Given the description of an element on the screen output the (x, y) to click on. 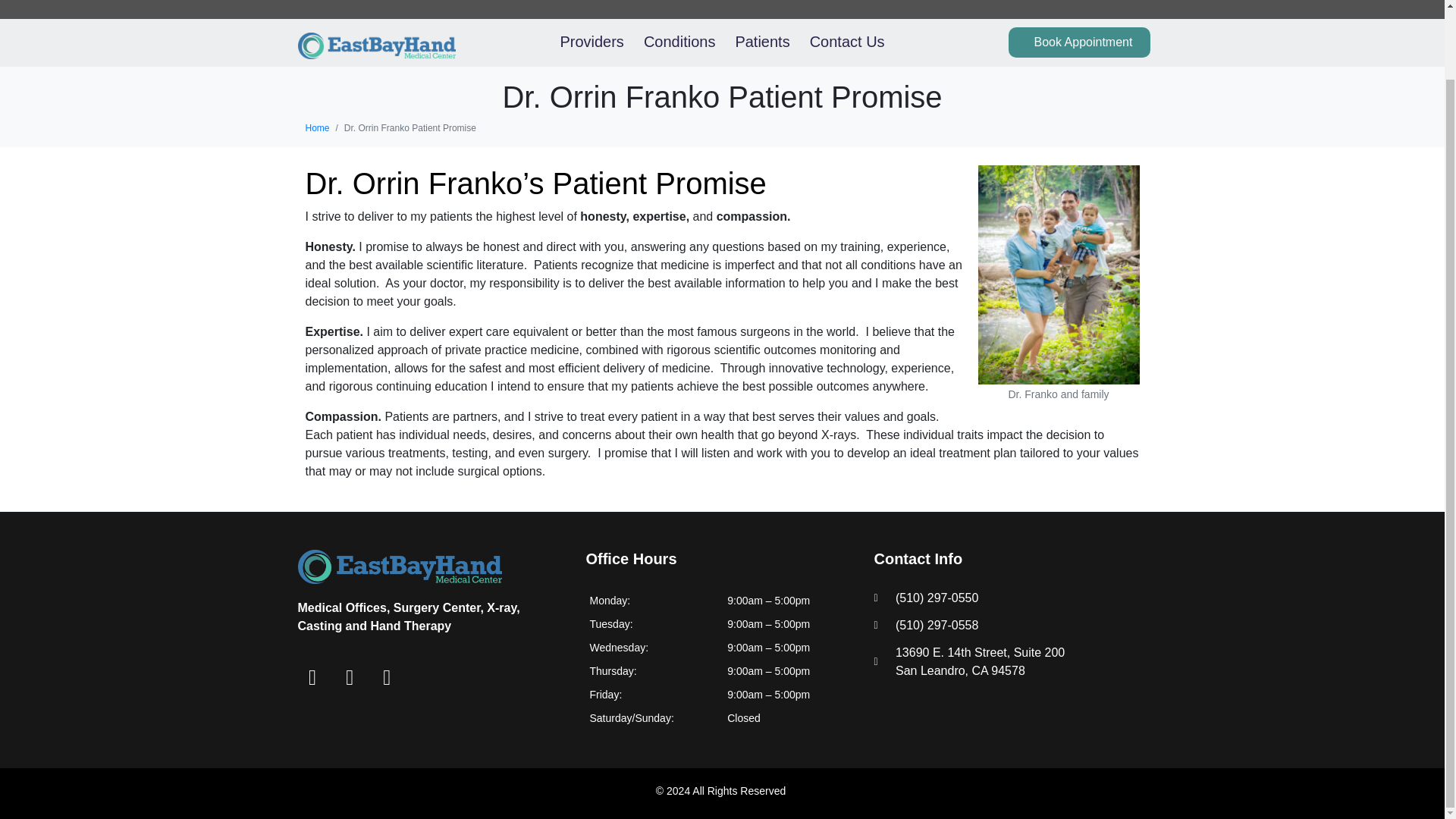
Patients (762, 42)
Contact Us (847, 42)
Conditions (679, 42)
Providers (591, 42)
